Given the description of an element on the screen output the (x, y) to click on. 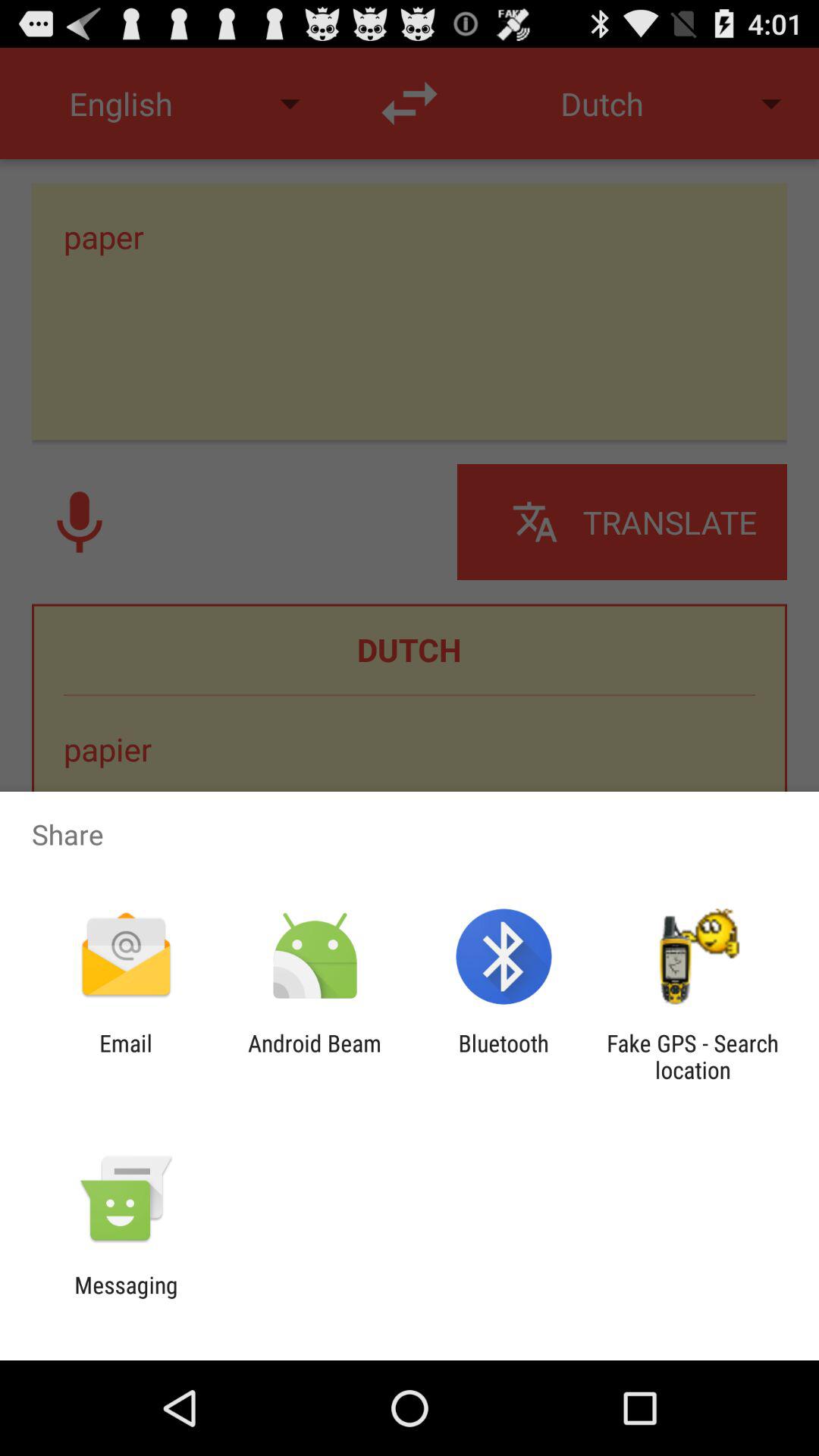
launch fake gps search (692, 1056)
